Given the description of an element on the screen output the (x, y) to click on. 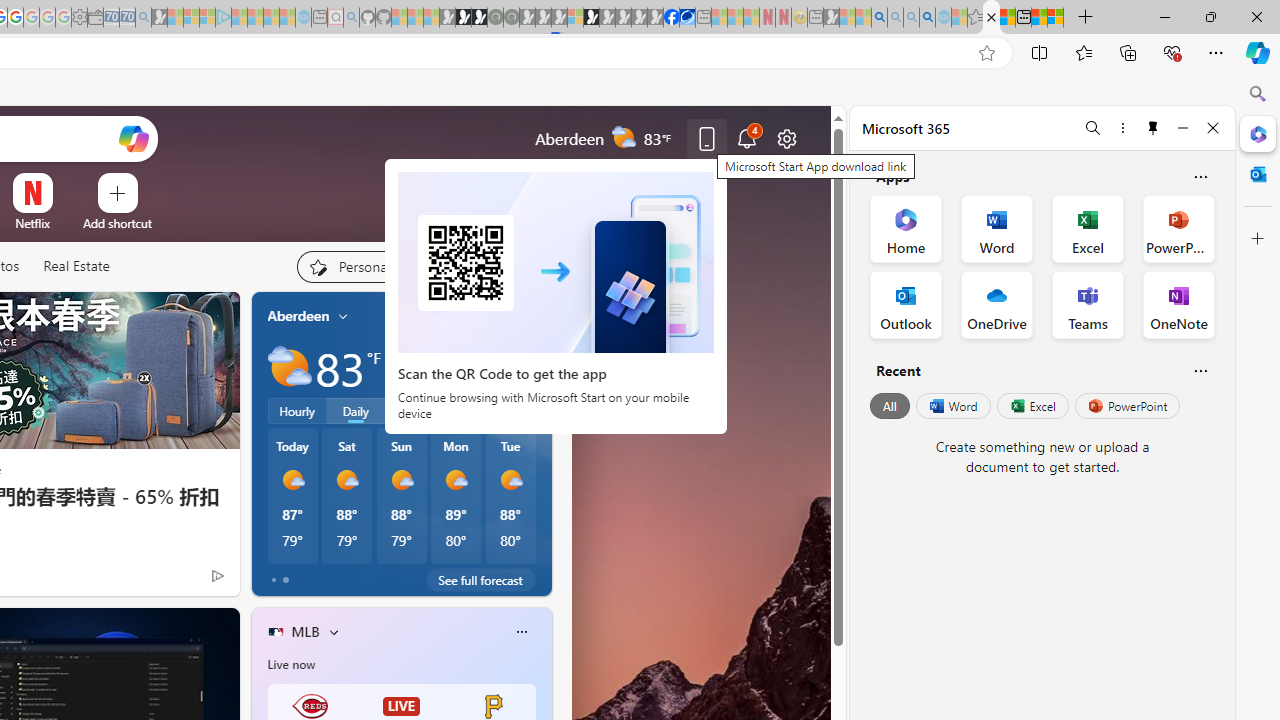
Close Microsoft 365 pane (1258, 133)
More interests (333, 631)
Excel Office App (1087, 228)
tab-0 (273, 579)
tab-1 (285, 579)
